Given the description of an element on the screen output the (x, y) to click on. 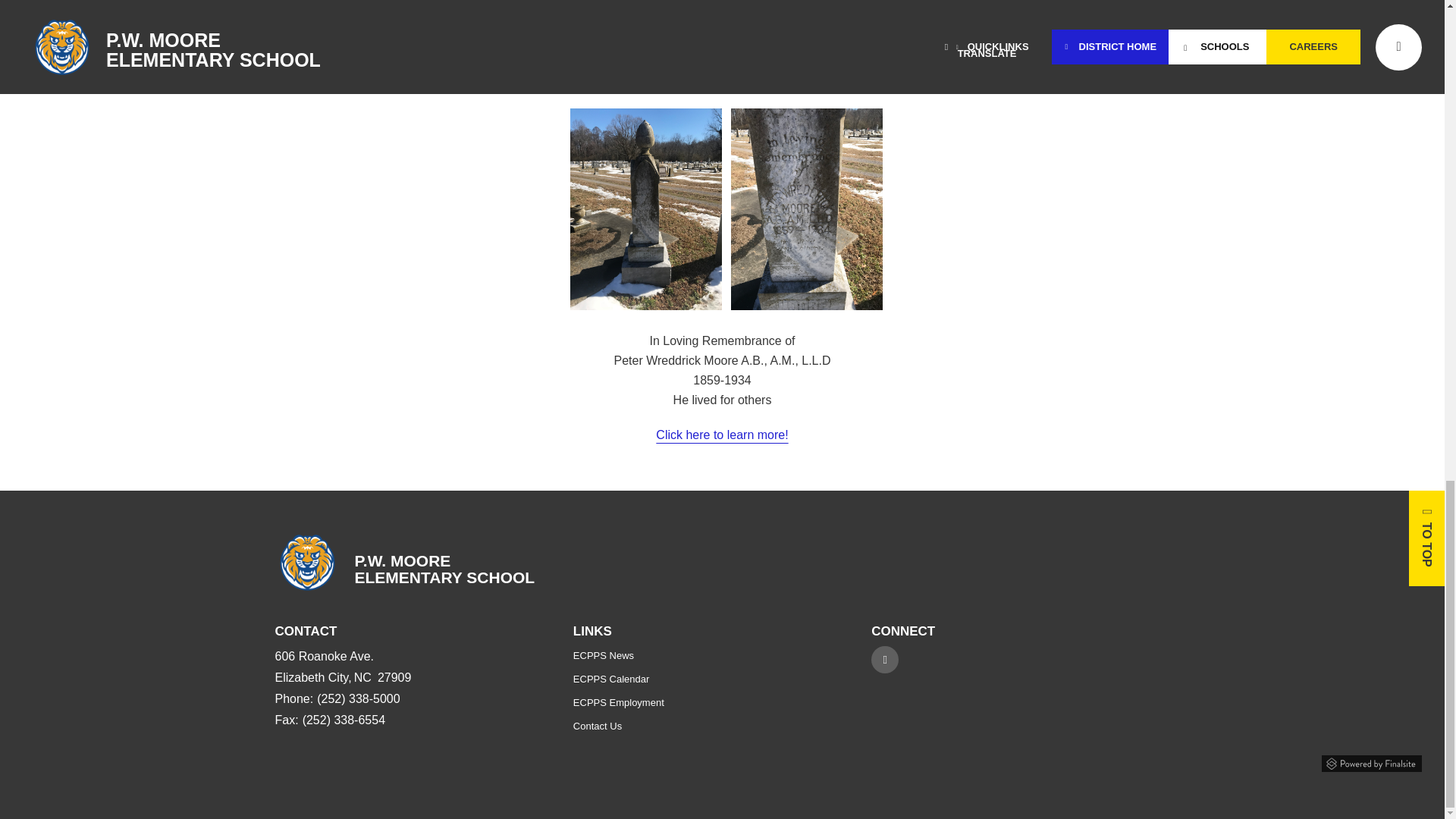
Powered by Finalsite opens in a new window (1372, 761)
